Given the description of an element on the screen output the (x, y) to click on. 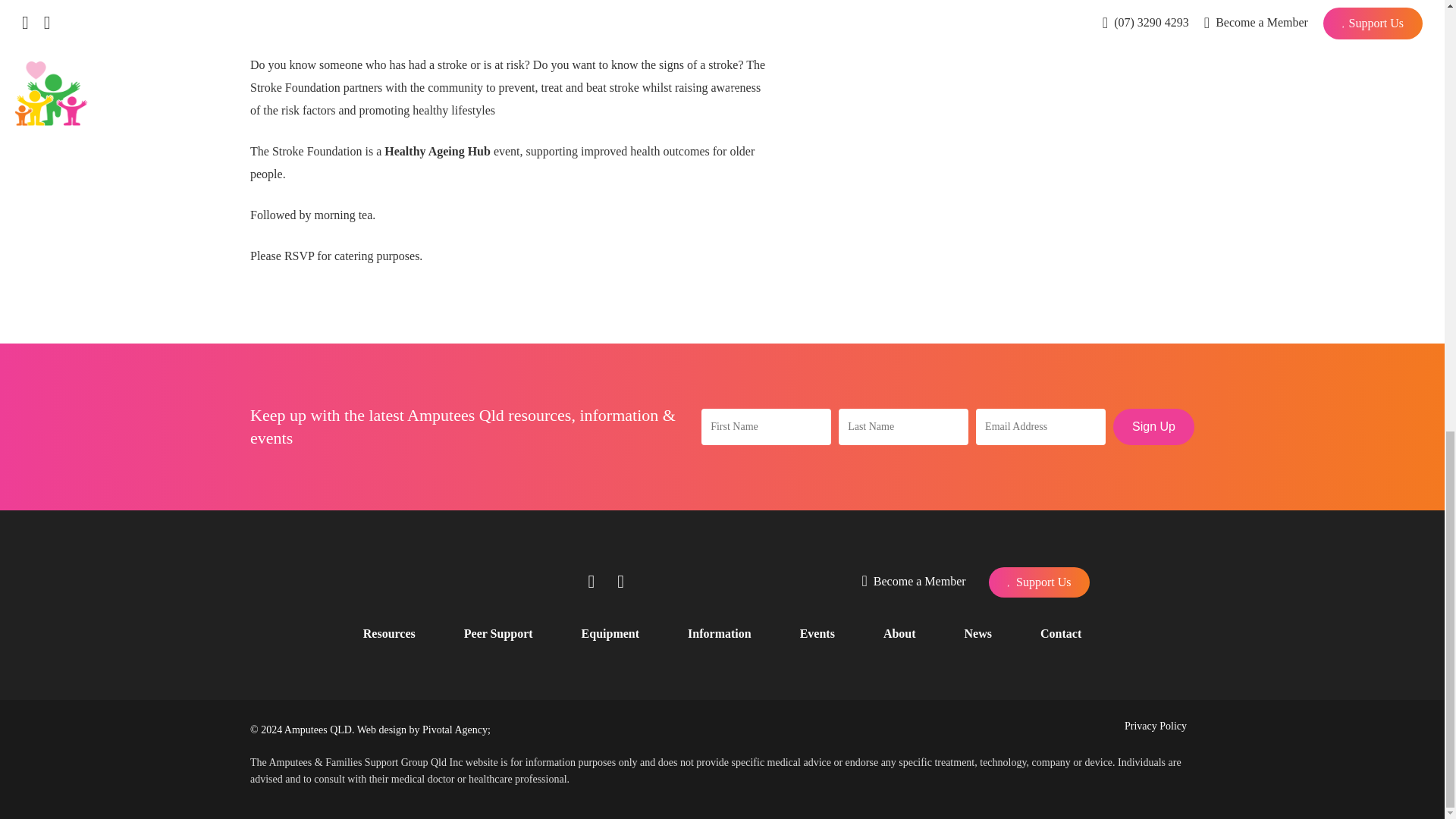
Become a Member (913, 581)
Sign Up (1153, 426)
Support Us (1039, 582)
Resources (388, 633)
Peer Support (498, 633)
Sign Up (1153, 426)
